Given the description of an element on the screen output the (x, y) to click on. 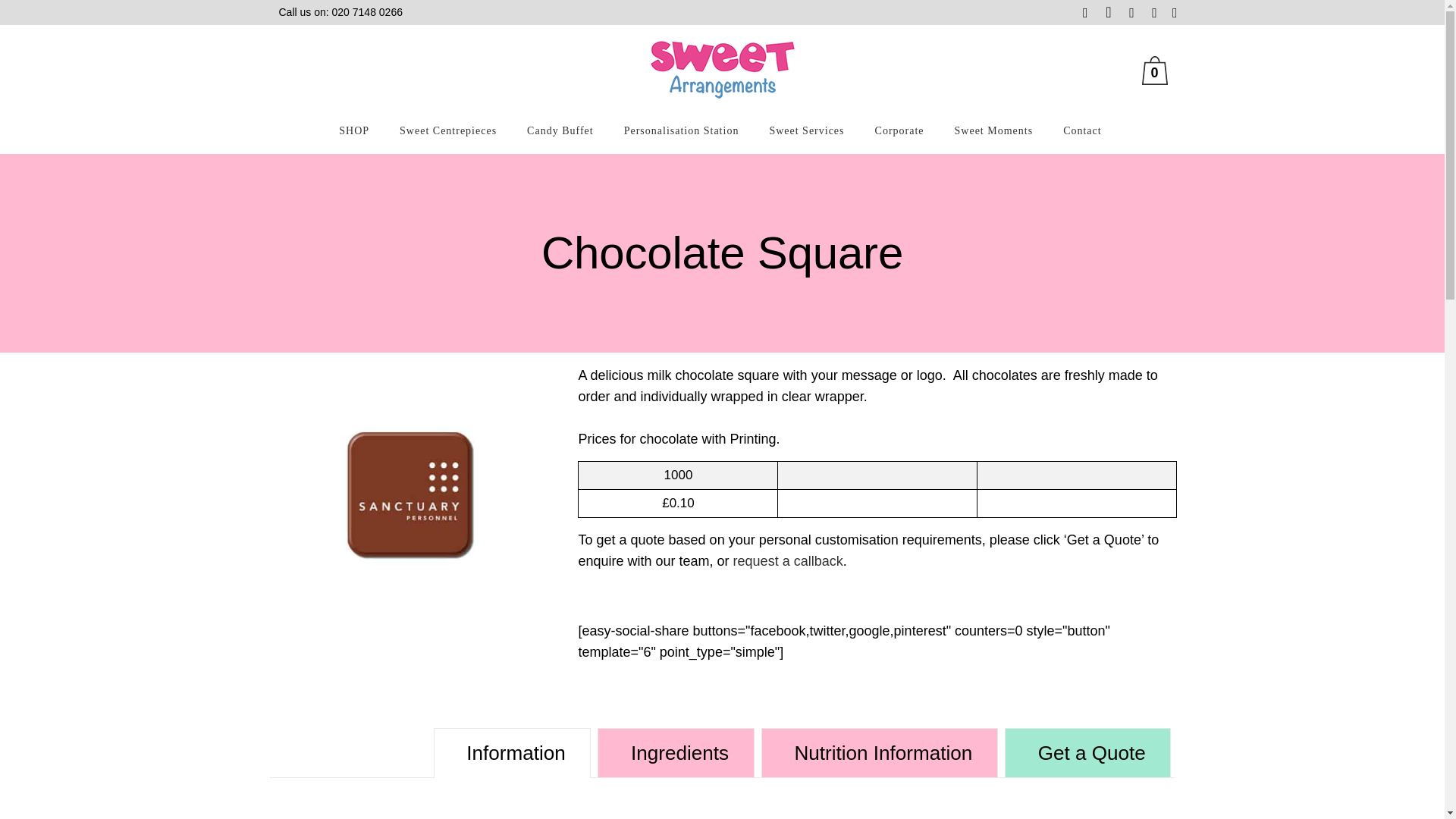
Candy Buffet (560, 131)
Sweet Services (806, 131)
0 (1157, 70)
Personalisation Station (681, 131)
Contact (1082, 131)
